Given the description of an element on the screen output the (x, y) to click on. 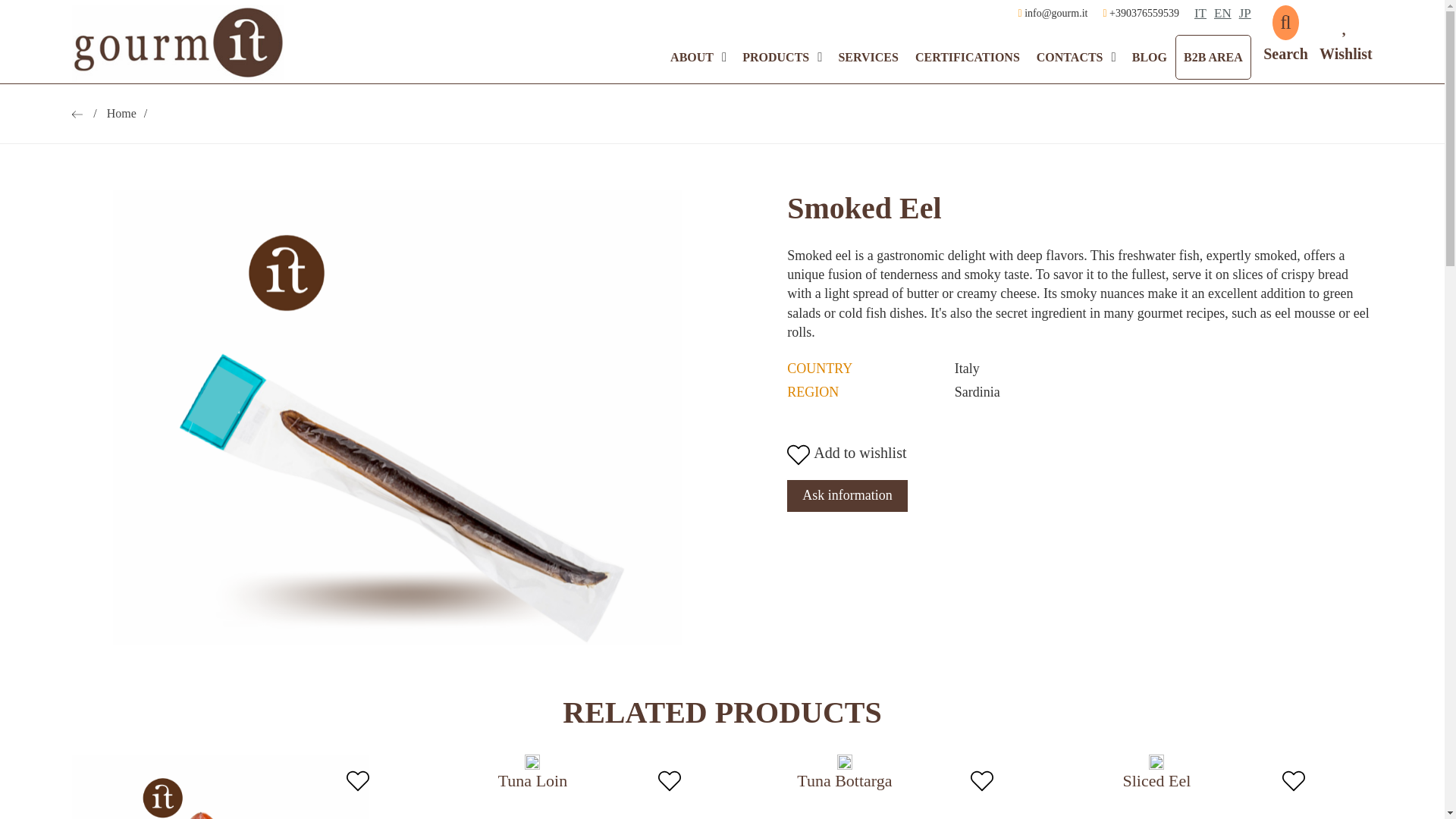
BLOG (1149, 57)
B2B AREA (1212, 57)
CERTIFICATIONS (967, 57)
CONTACTS (1069, 57)
Ask information (847, 495)
ABOUT (692, 57)
SERVICES (867, 57)
PRODUCTS (774, 57)
Home (127, 113)
